Given the description of an element on the screen output the (x, y) to click on. 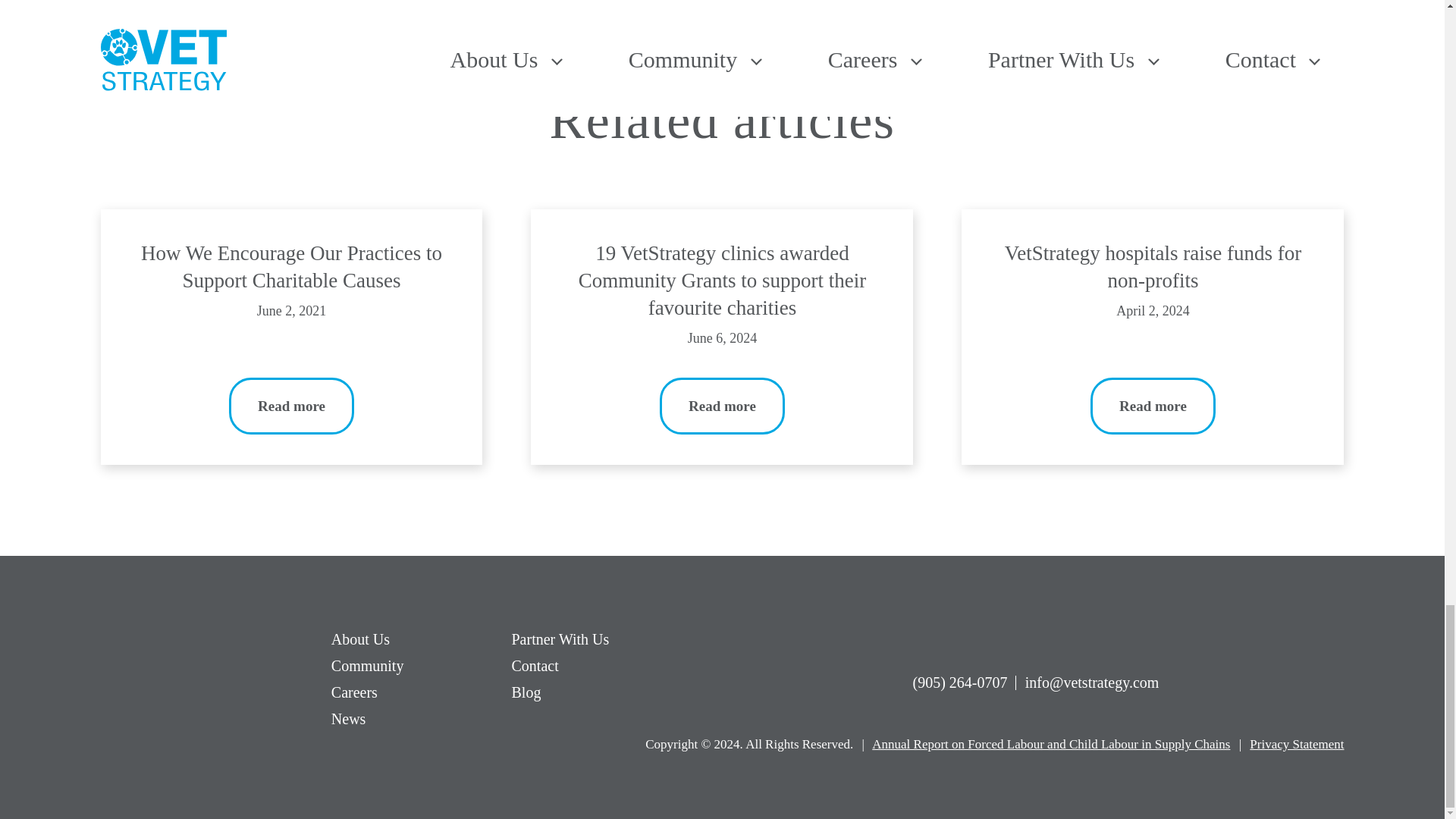
Careers (354, 692)
Careers (354, 692)
Contact (534, 665)
Read more (721, 405)
Blog (525, 692)
News (348, 718)
Contact (534, 665)
News (348, 718)
About Us (360, 639)
Partner With Us (559, 639)
Partner With Us (559, 639)
About Us (360, 639)
Blog (525, 692)
Read more (1152, 405)
Community (367, 665)
